Given the description of an element on the screen output the (x, y) to click on. 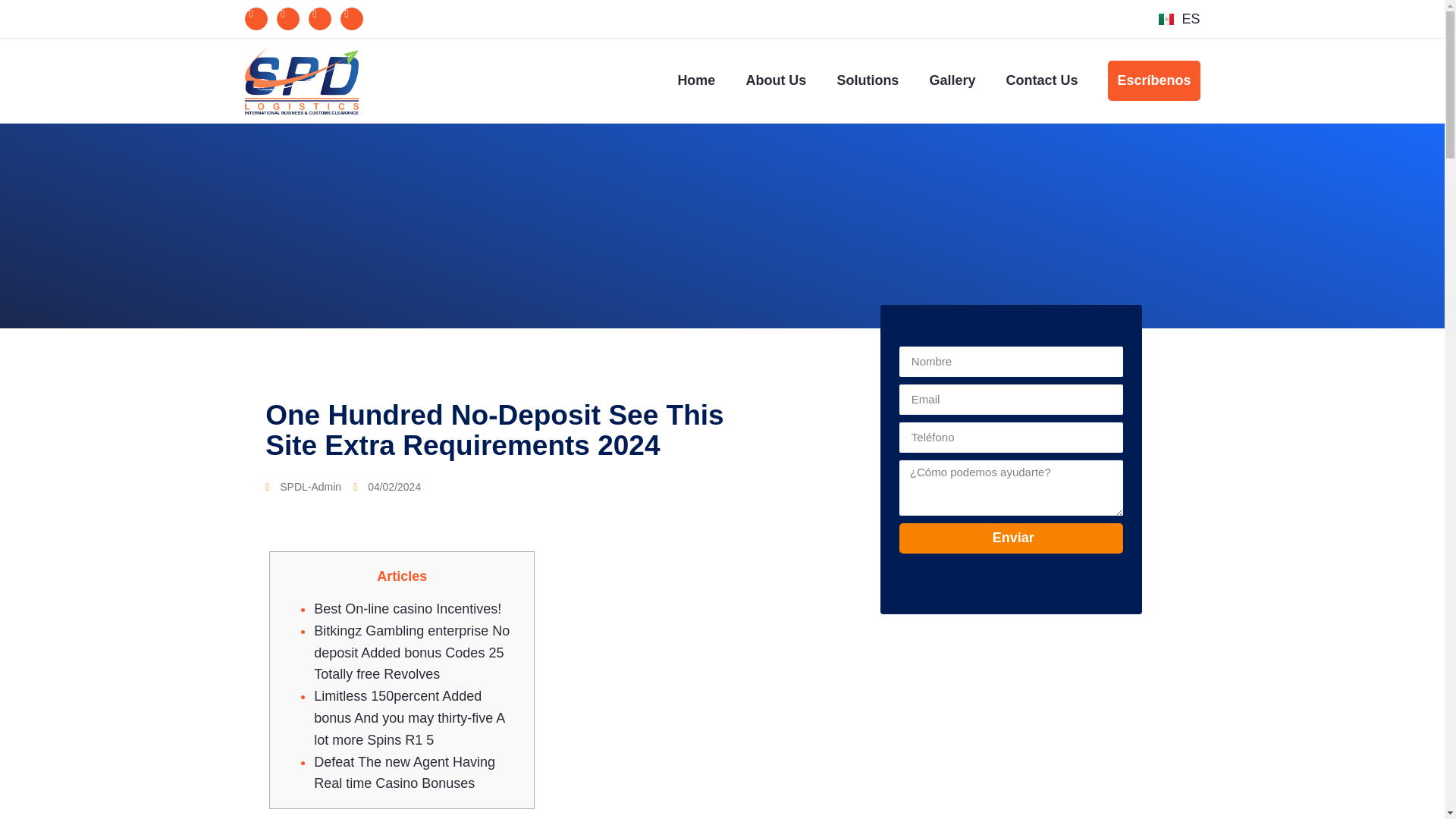
Solutions (867, 80)
ES (1178, 18)
About Us (775, 80)
Gallery (952, 80)
Contact Us (1041, 80)
Enviar (1011, 538)
Best On-line casino Incentives! (407, 608)
Defeat The new Agent Having Real time Casino Bonuses (404, 772)
